Given the description of an element on the screen output the (x, y) to click on. 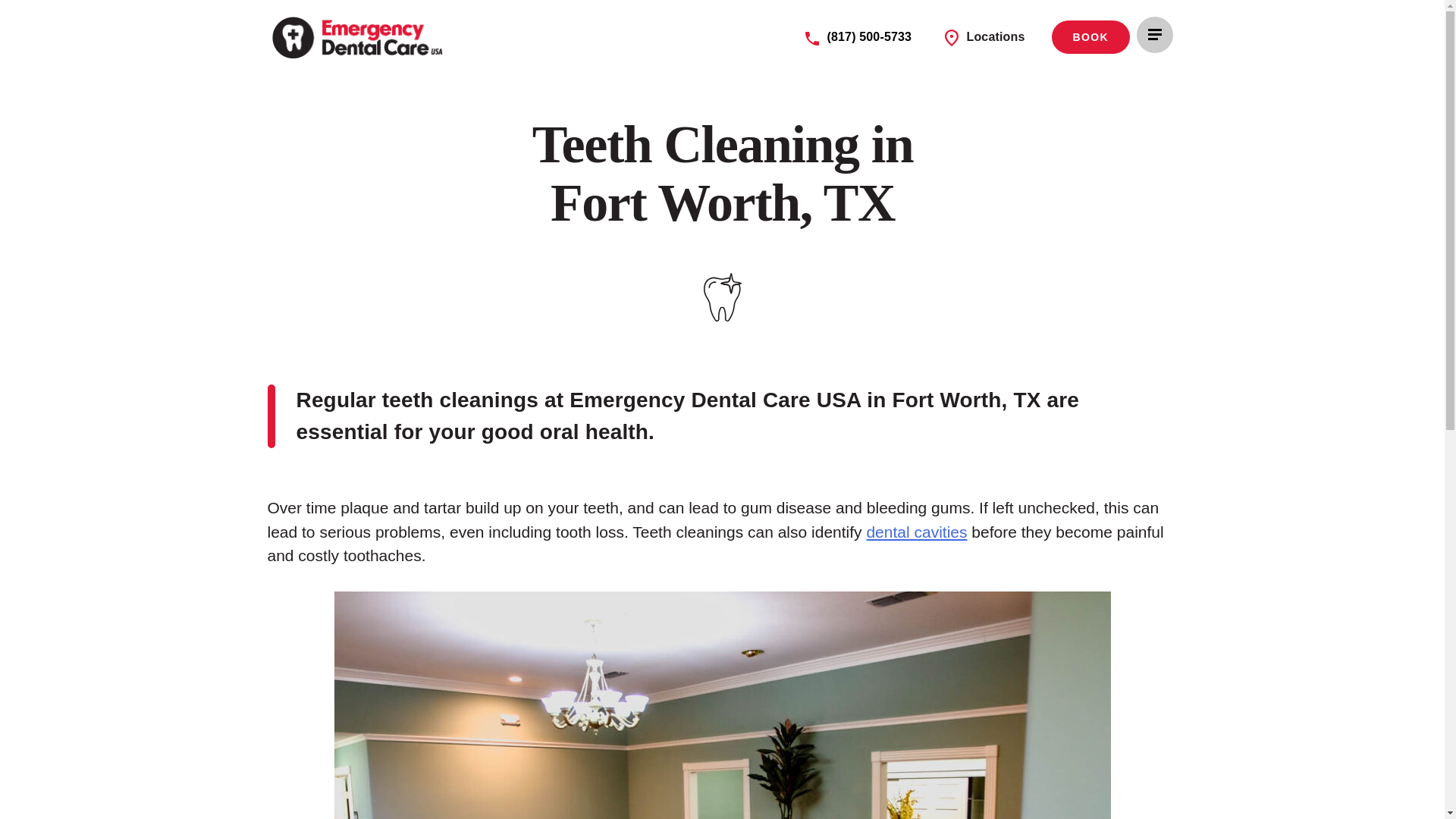
Locations (984, 37)
dental cavities (916, 531)
Fort Worth Emergency Dental Care USA (358, 37)
BOOK (1090, 37)
